Given the description of an element on the screen output the (x, y) to click on. 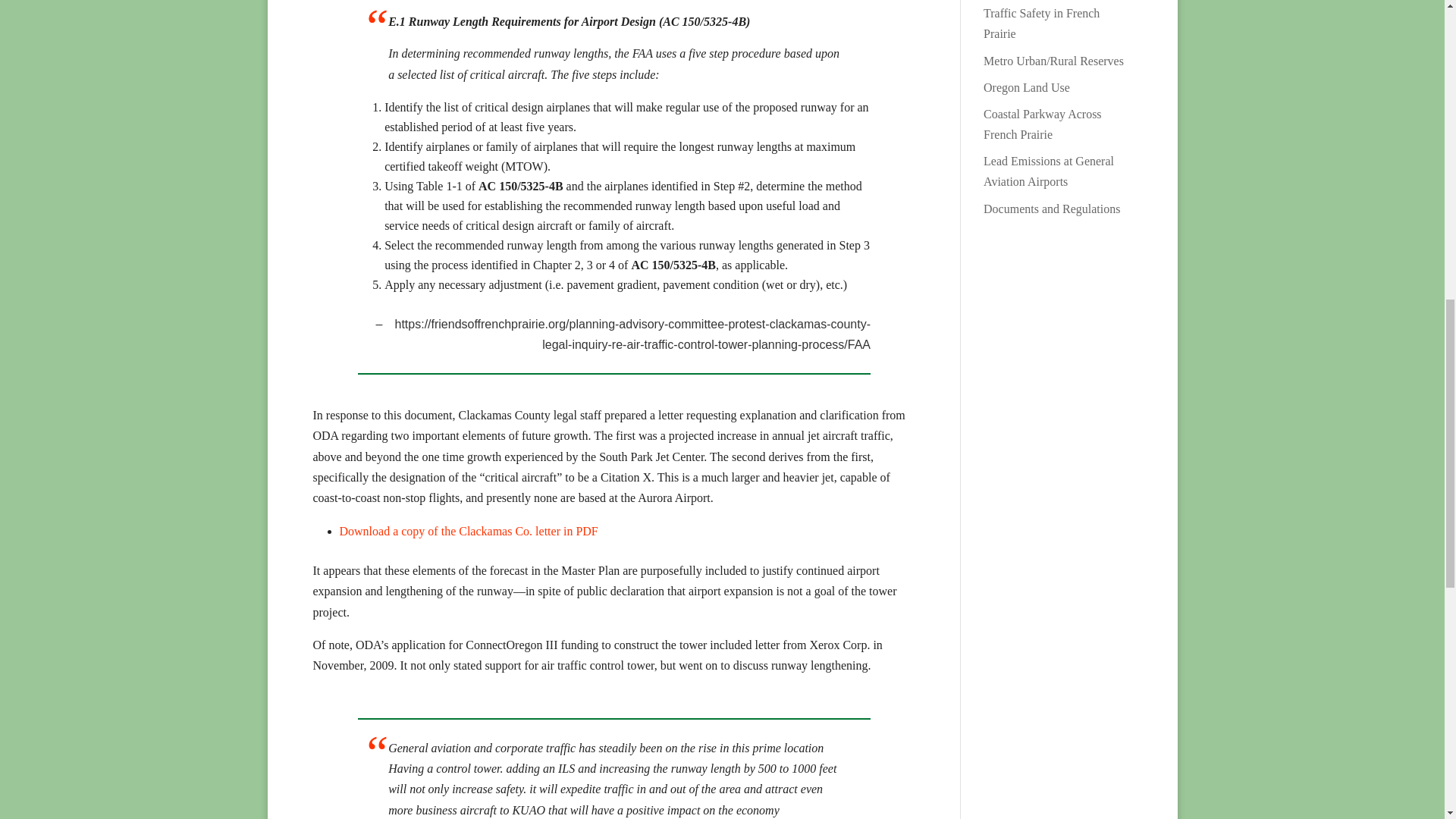
Lead Emissions at General Aviation Airports (1048, 171)
Download a copy of the Clackamas Co. letter in PDF (468, 530)
Oregon Land Use (1027, 87)
Coastal Parkway Across French Prairie (1043, 123)
Documents and Regulations (1051, 208)
Traffic Safety in French Prairie (1041, 23)
